Given the description of an element on the screen output the (x, y) to click on. 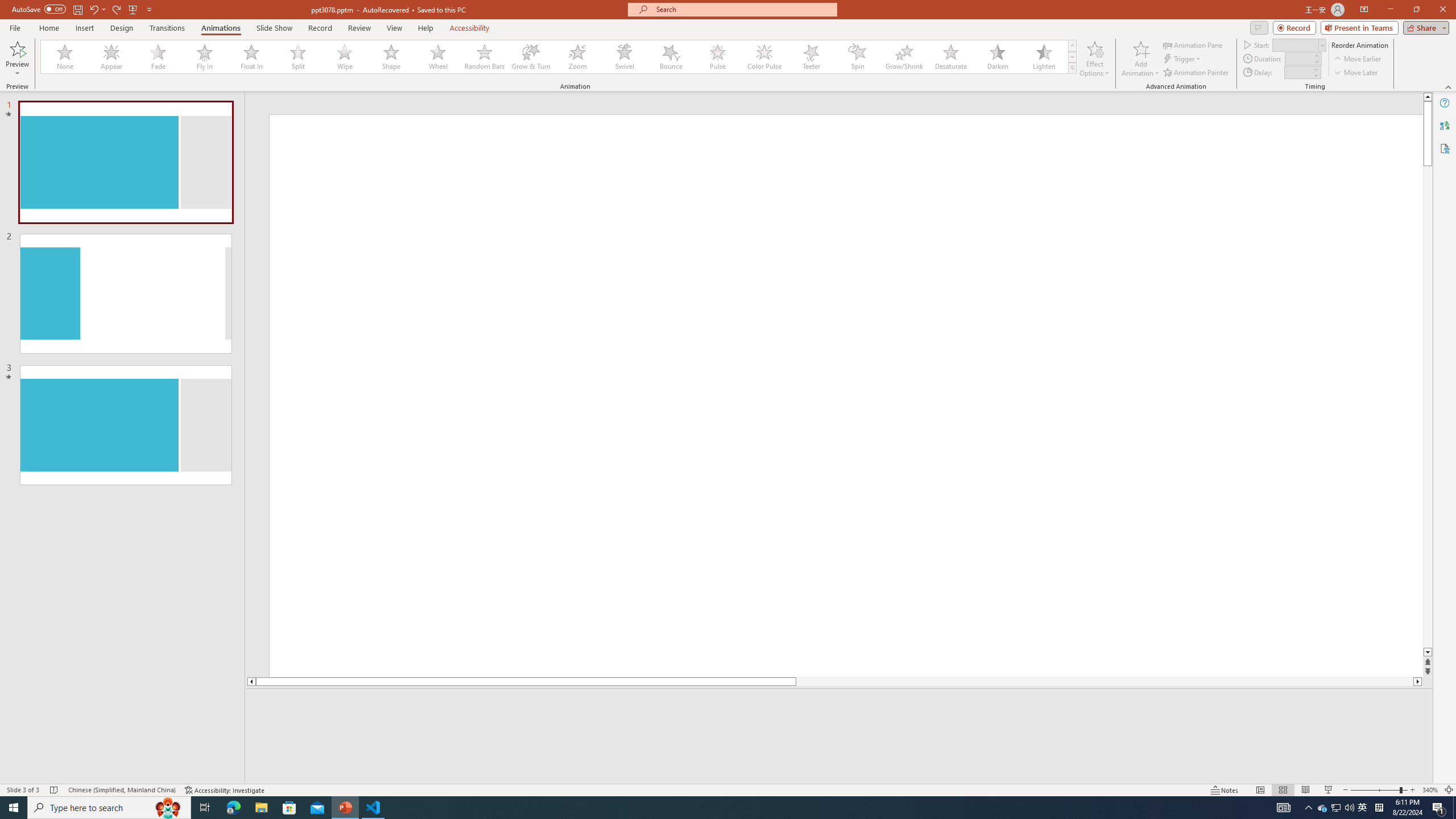
Effect Options (1094, 58)
Float In (251, 56)
Row Down (1071, 56)
Spell Check No Errors (54, 790)
Animation Styles (1071, 67)
Preview (17, 58)
Class: NetUIImage (1072, 68)
Add Animation (1141, 58)
AutomationID: AnimationGallery (558, 56)
